Given the description of an element on the screen output the (x, y) to click on. 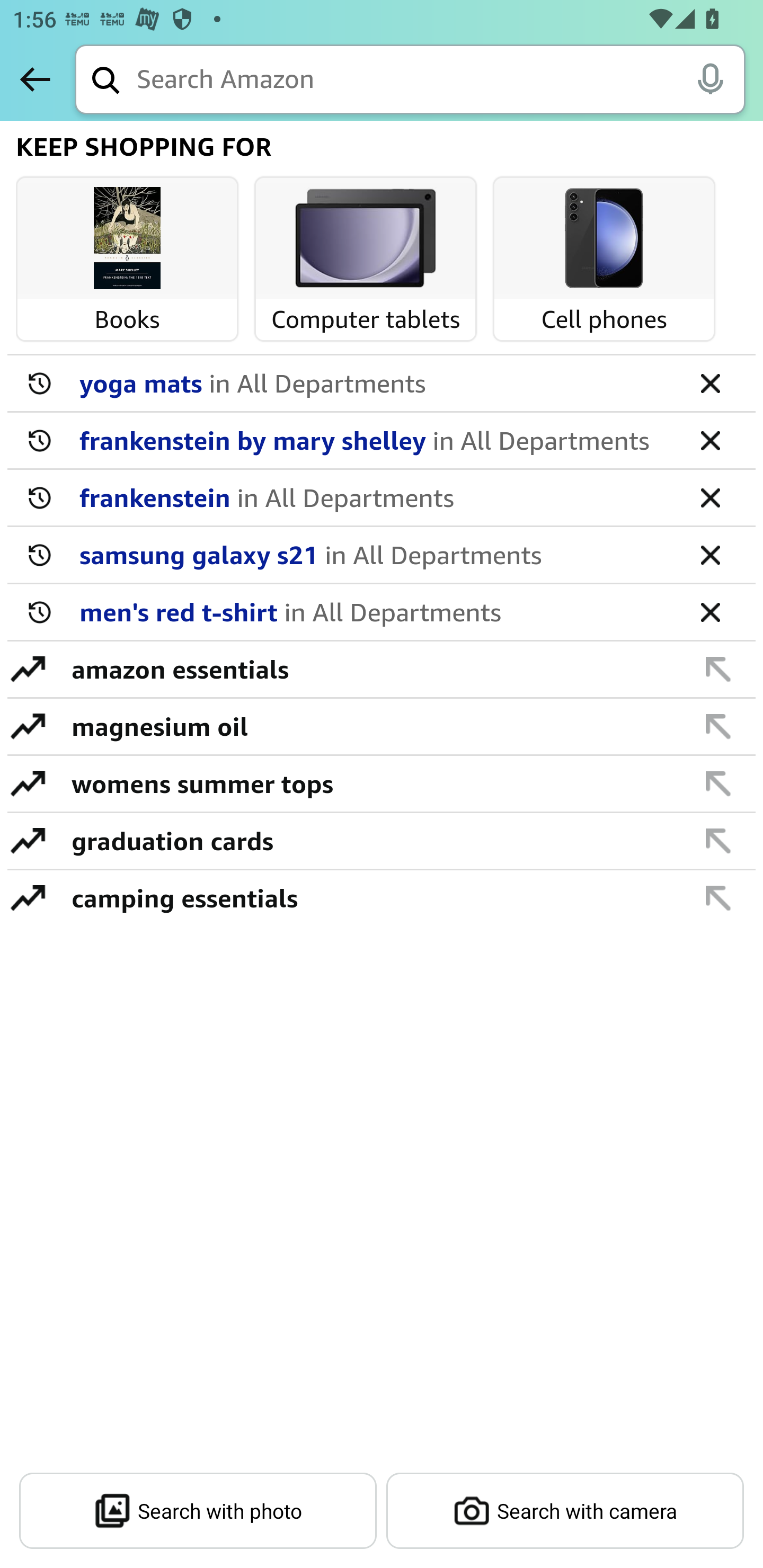
Search Amazon (440, 80)
Back (35, 78)
Alexa (710, 78)
Books Computer tablets Cell phones (383, 262)
Books (126, 238)
Computer tablets (365, 238)
Cell phones (603, 238)
yoga mats delete (381, 383)
yoga mats (374, 382)
delete (710, 382)
frankenstein by mary shelley delete (381, 440)
frankenstein by mary shelley (374, 439)
delete (710, 439)
frankenstein delete (381, 497)
frankenstein (374, 496)
delete (710, 496)
samsung galaxy s21 delete (381, 554)
samsung galaxy s21 (374, 554)
delete (710, 554)
men's red t-shirt delete (381, 612)
men's red t-shirt (374, 611)
delete (710, 611)
amazon essentials append suggestion (381, 669)
amazon essentials (370, 668)
append suggestion (718, 668)
magnesium oil append suggestion (381, 726)
magnesium oil (370, 725)
append suggestion (718, 725)
womens summer tops append suggestion (381, 783)
womens summer tops (370, 783)
append suggestion (718, 783)
graduation cards append suggestion (381, 841)
graduation cards (370, 840)
append suggestion (718, 840)
camping essentials append suggestion (381, 897)
camping essentials (370, 897)
append suggestion (718, 897)
Search with photo (197, 1510)
Search with camera (564, 1510)
